Given the description of an element on the screen output the (x, y) to click on. 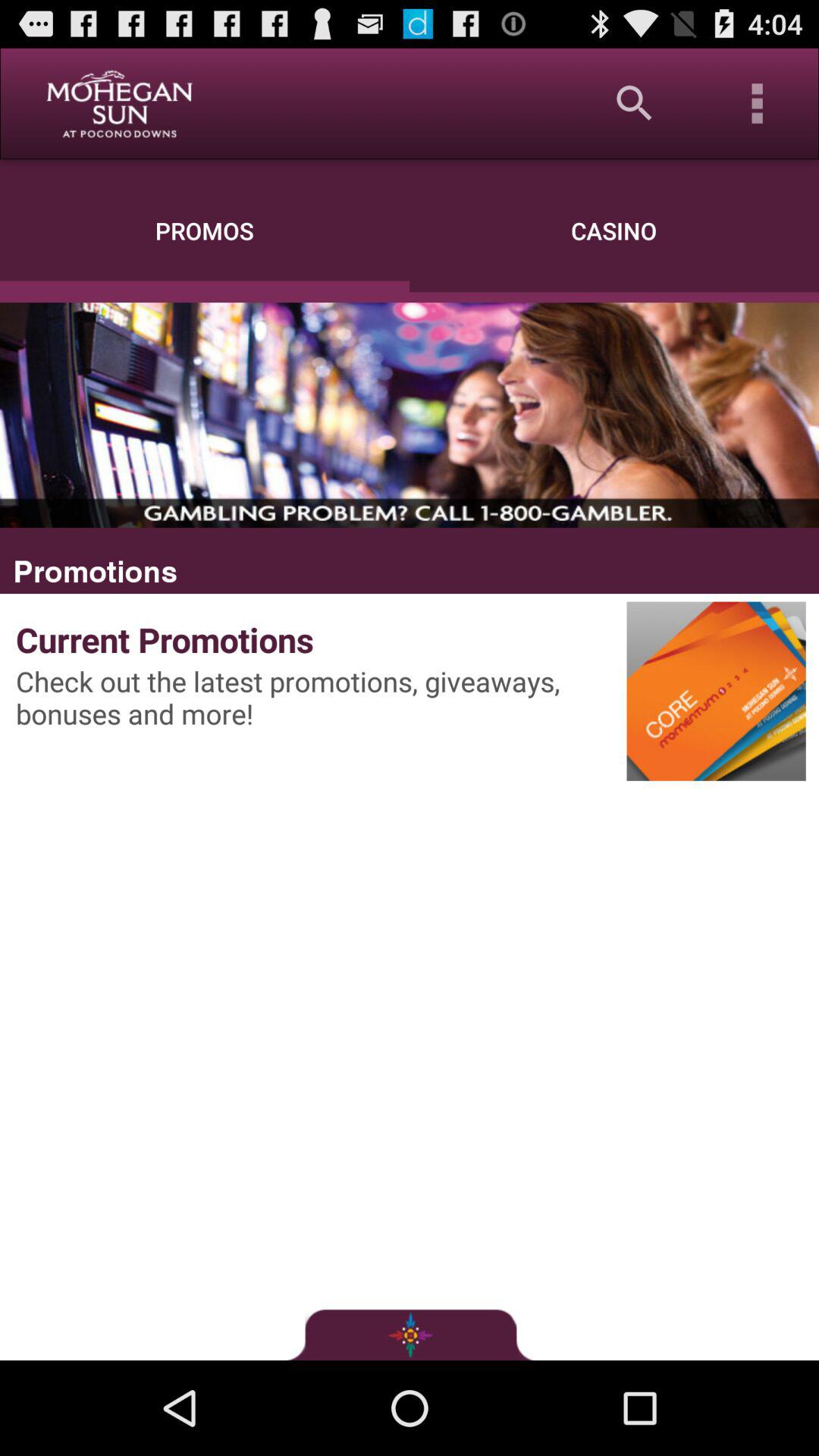
turn on item at the bottom (409, 1334)
